Given the description of an element on the screen output the (x, y) to click on. 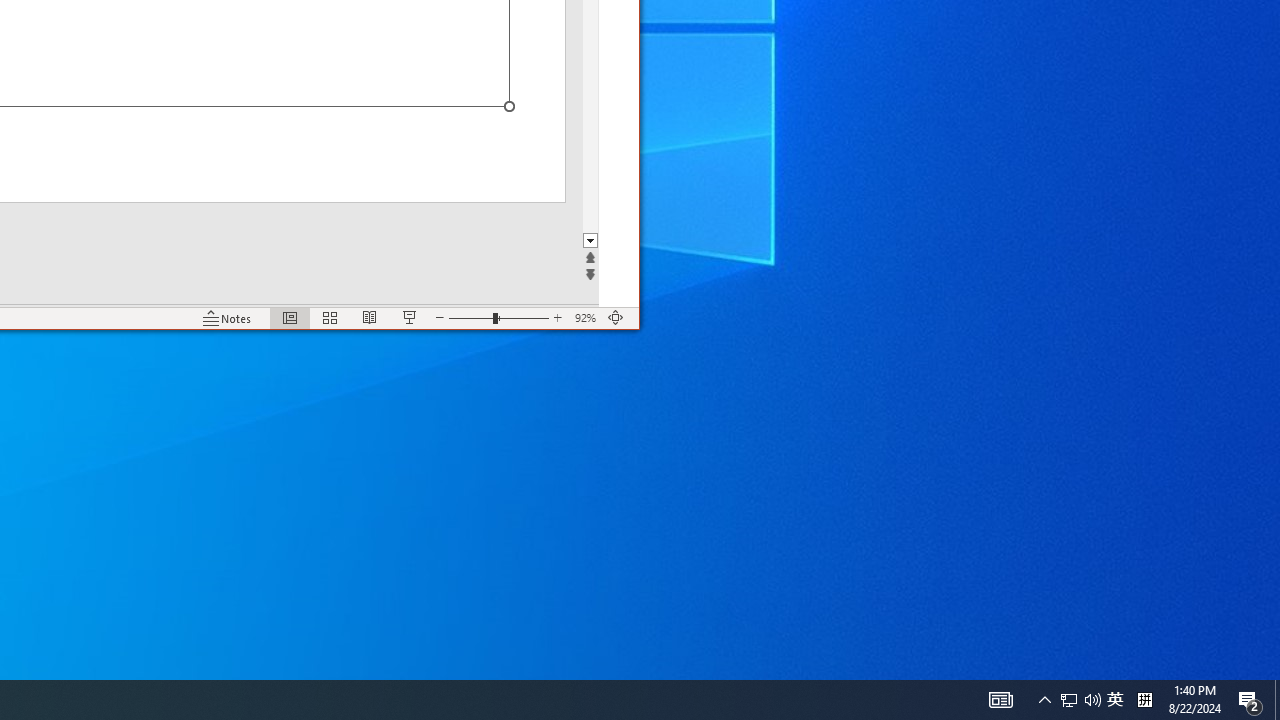
Zoom 92% (585, 318)
